Given the description of an element on the screen output the (x, y) to click on. 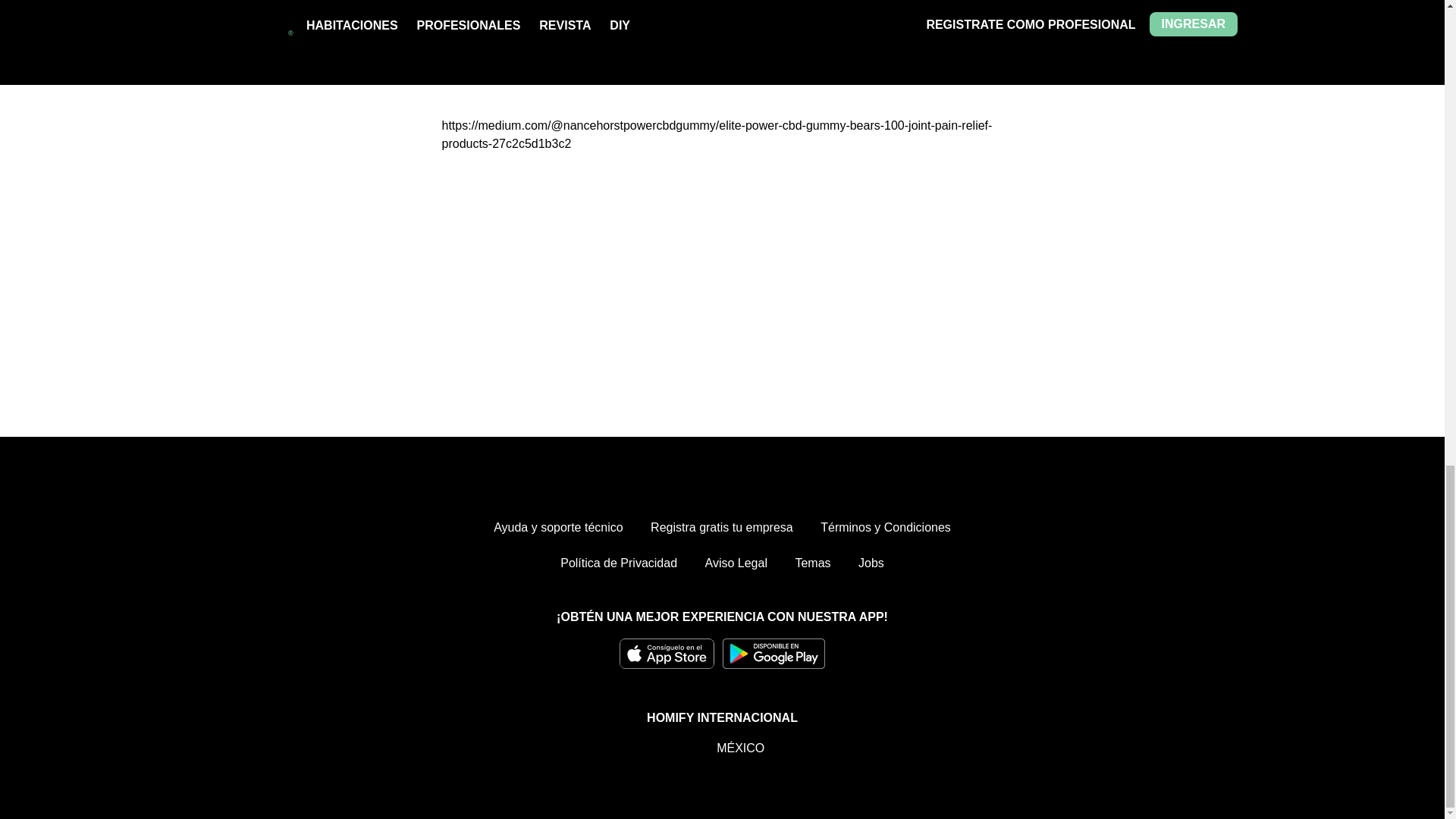
Registra gratis tu empresa (721, 527)
Aviso Legal (735, 563)
Jobs (871, 563)
Temas (811, 563)
